Given the description of an element on the screen output the (x, y) to click on. 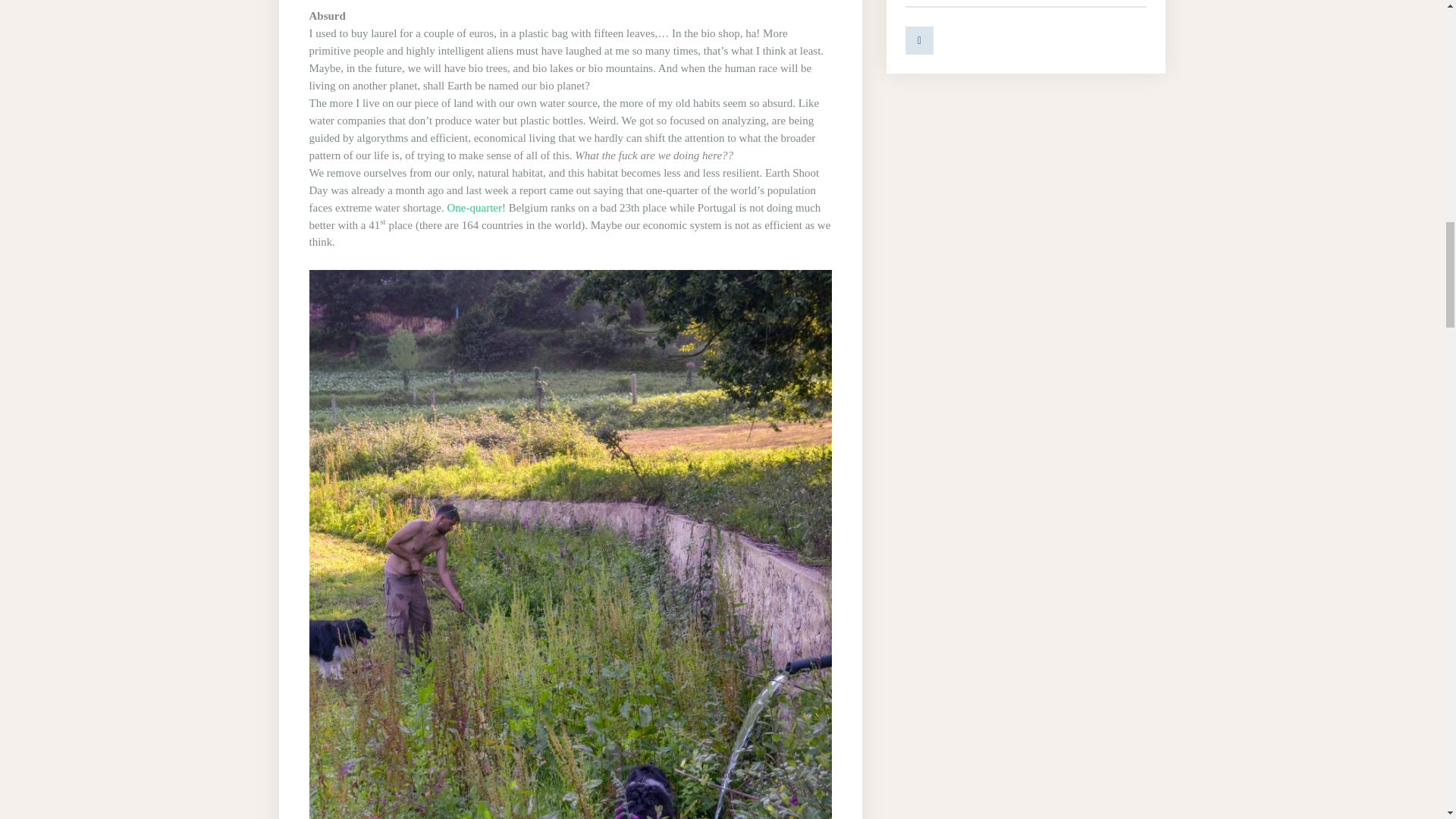
One-quarter (474, 207)
